Given the description of an element on the screen output the (x, y) to click on. 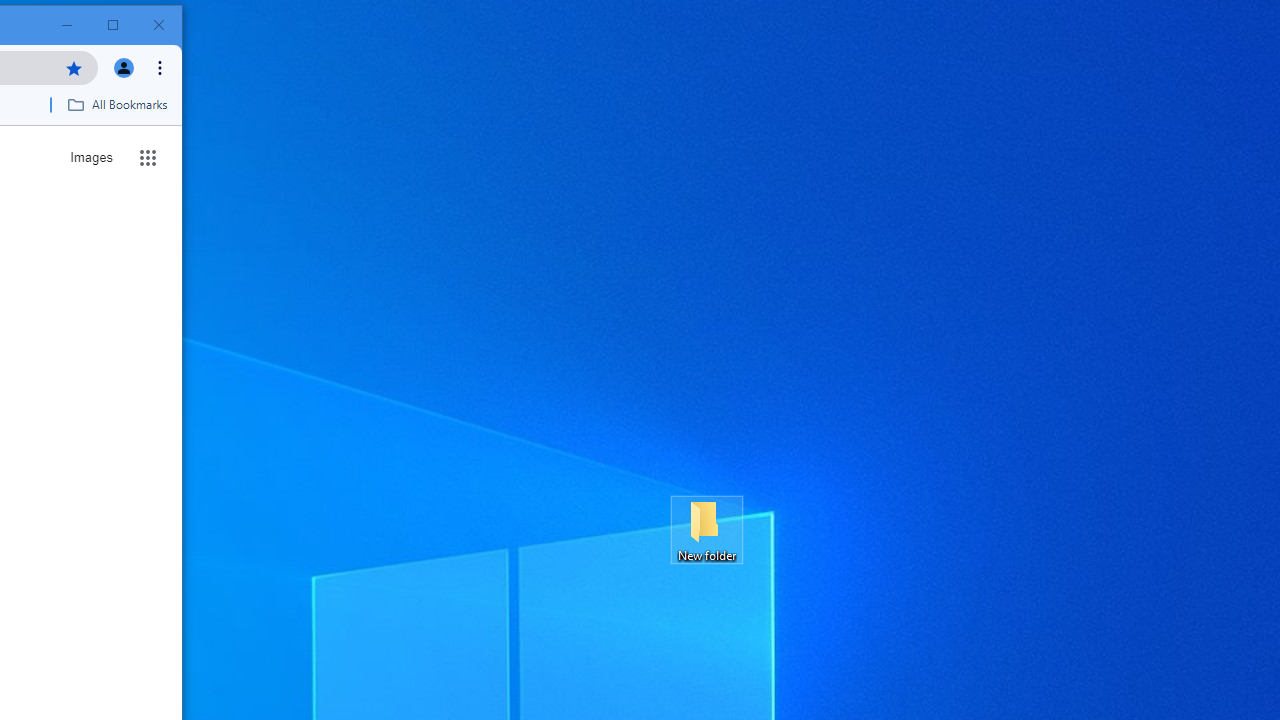
New folder (706, 530)
